Given the description of an element on the screen output the (x, y) to click on. 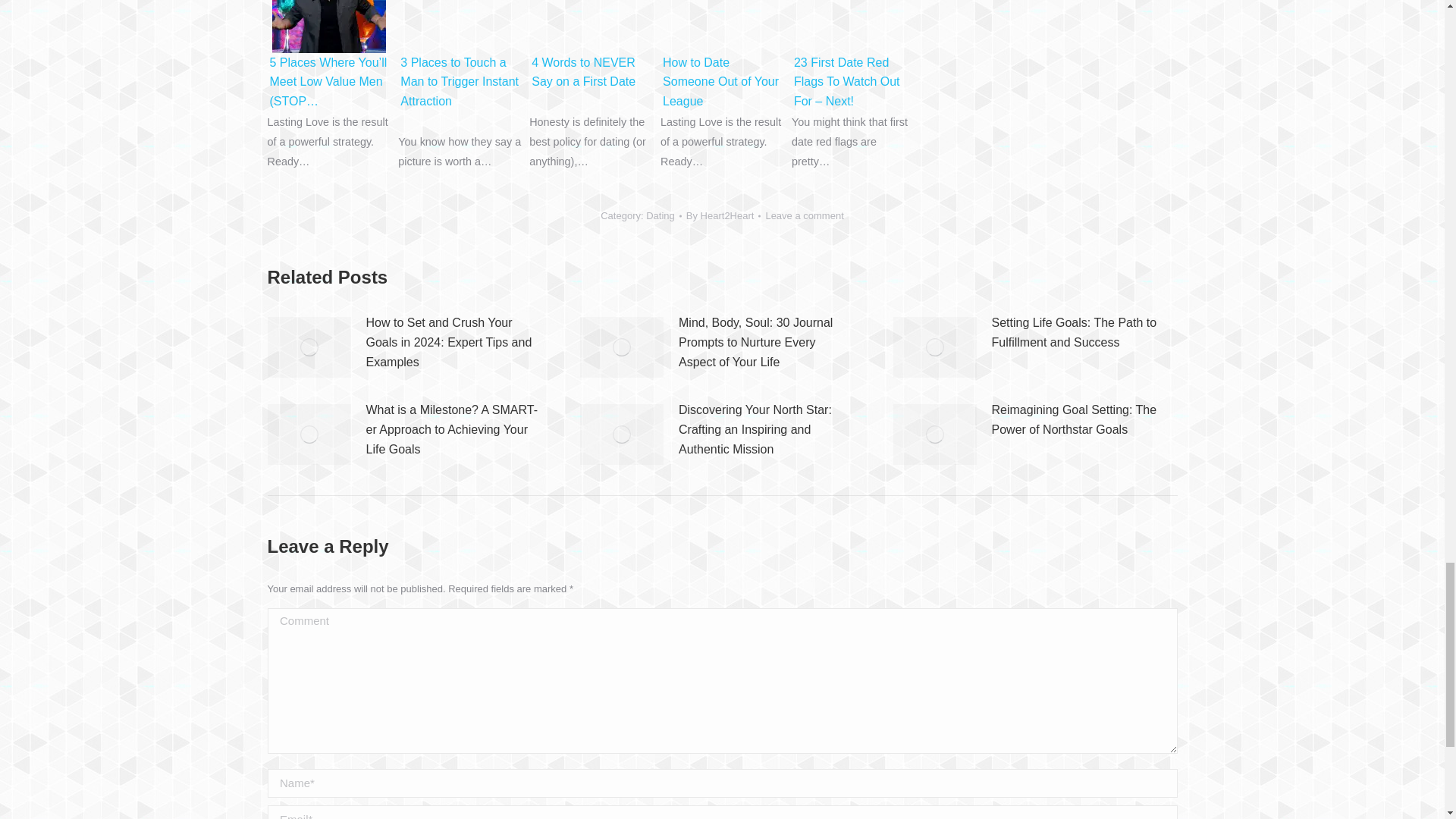
3 Places to Touch a Man to Trigger Instant Attraction (459, 26)
How to Date Someone Out of Your League (721, 26)
4 Words to NEVER Say on a First Date (590, 0)
